Given the description of an element on the screen output the (x, y) to click on. 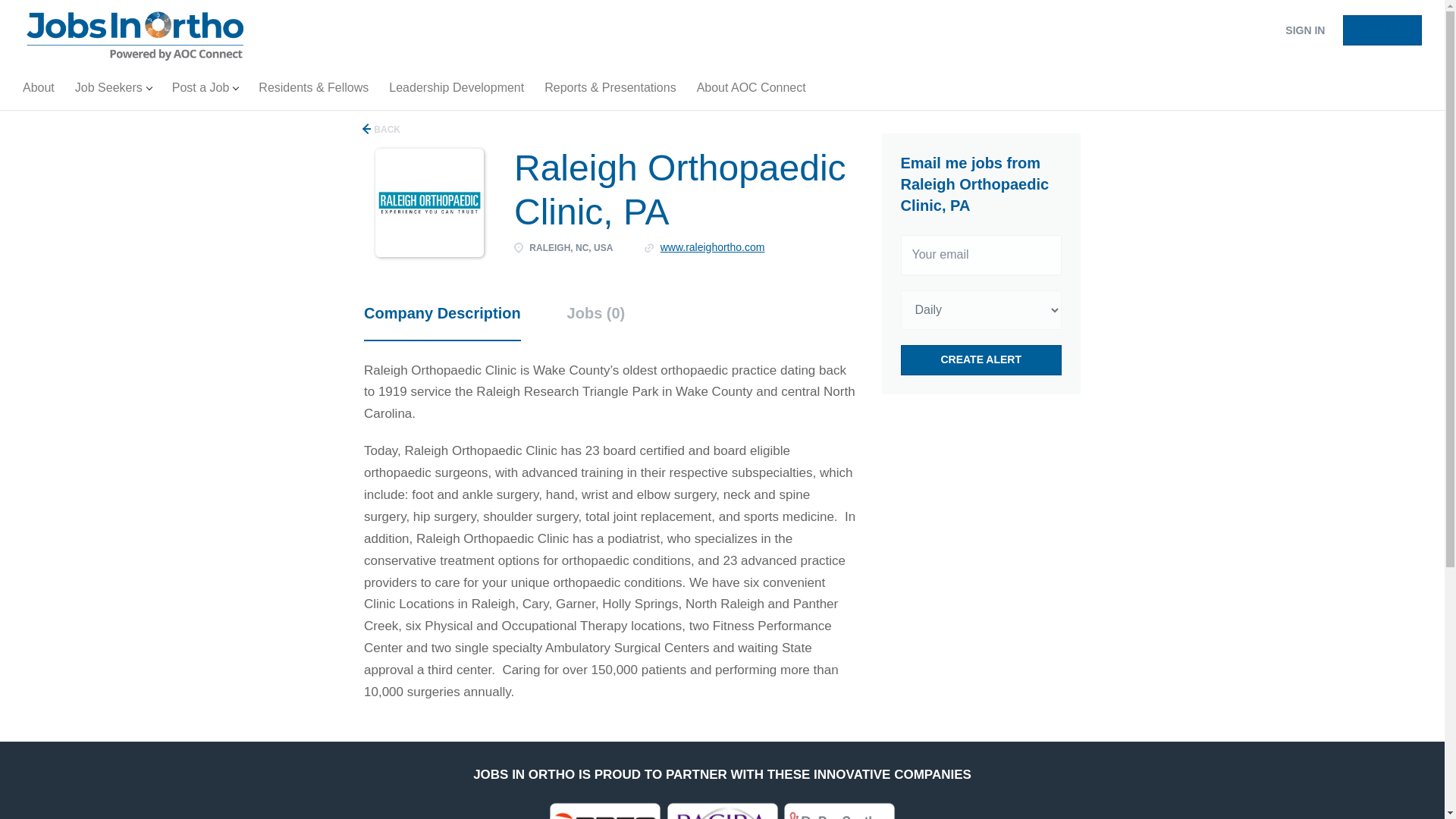
Post a Job (205, 90)
Create alert (981, 359)
Company Description (442, 321)
Create alert (981, 359)
Job Seekers (112, 90)
Leadership Development (456, 90)
SIGN UP (1382, 30)
www.raleighortho.com (713, 246)
About AOC Connect (750, 90)
About (38, 90)
BACK (382, 128)
SIGN IN (1305, 30)
